Given the description of an element on the screen output the (x, y) to click on. 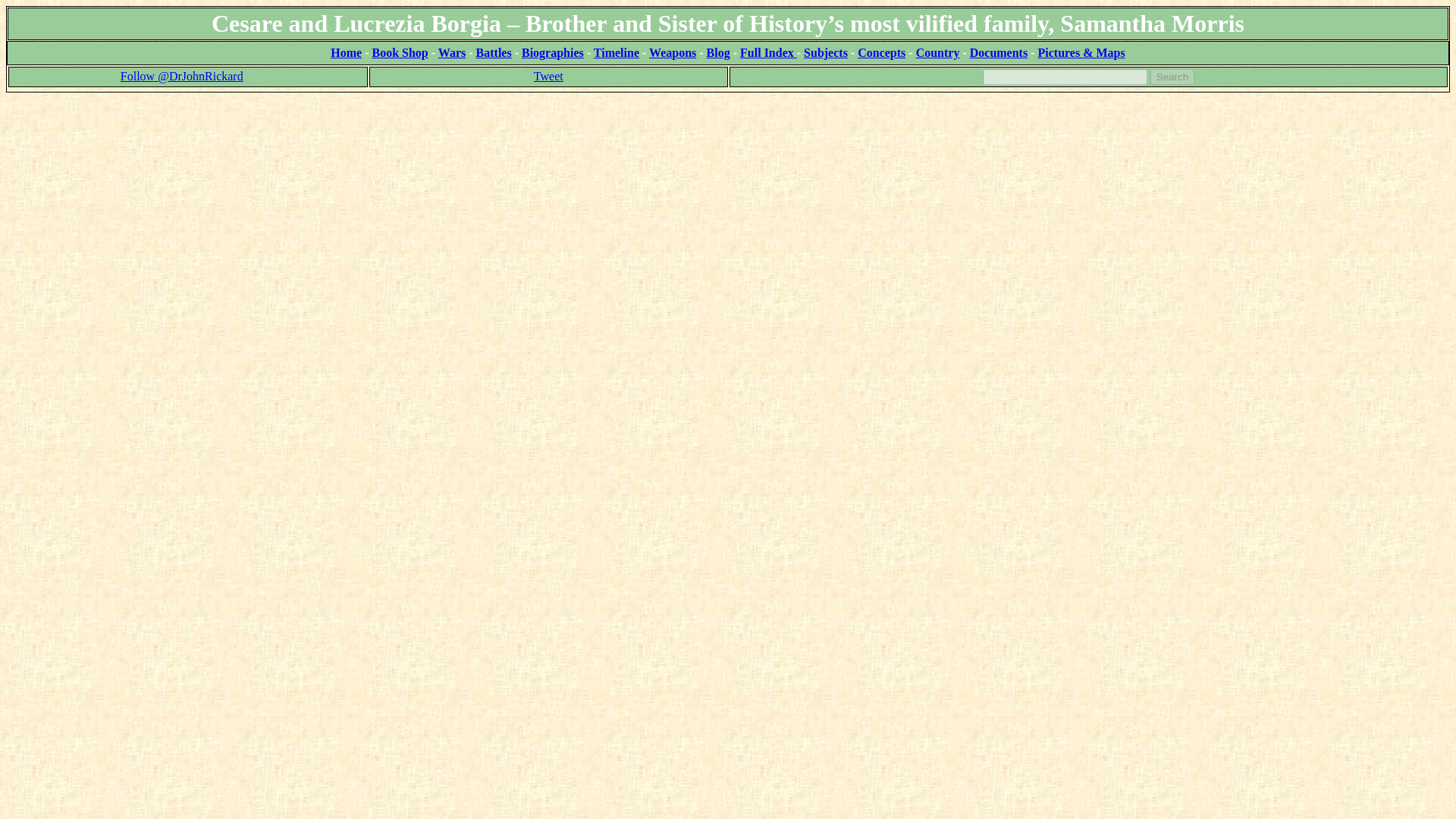
Weapons (672, 51)
Link to our discussion forum (1080, 51)
Index of longer articles (998, 51)
Index of biographies (552, 51)
Index of articles on military concepts (881, 51)
Concepts (881, 51)
Country (937, 51)
Home (345, 51)
Subjects (825, 51)
Biographies (552, 51)
